Given the description of an element on the screen output the (x, y) to click on. 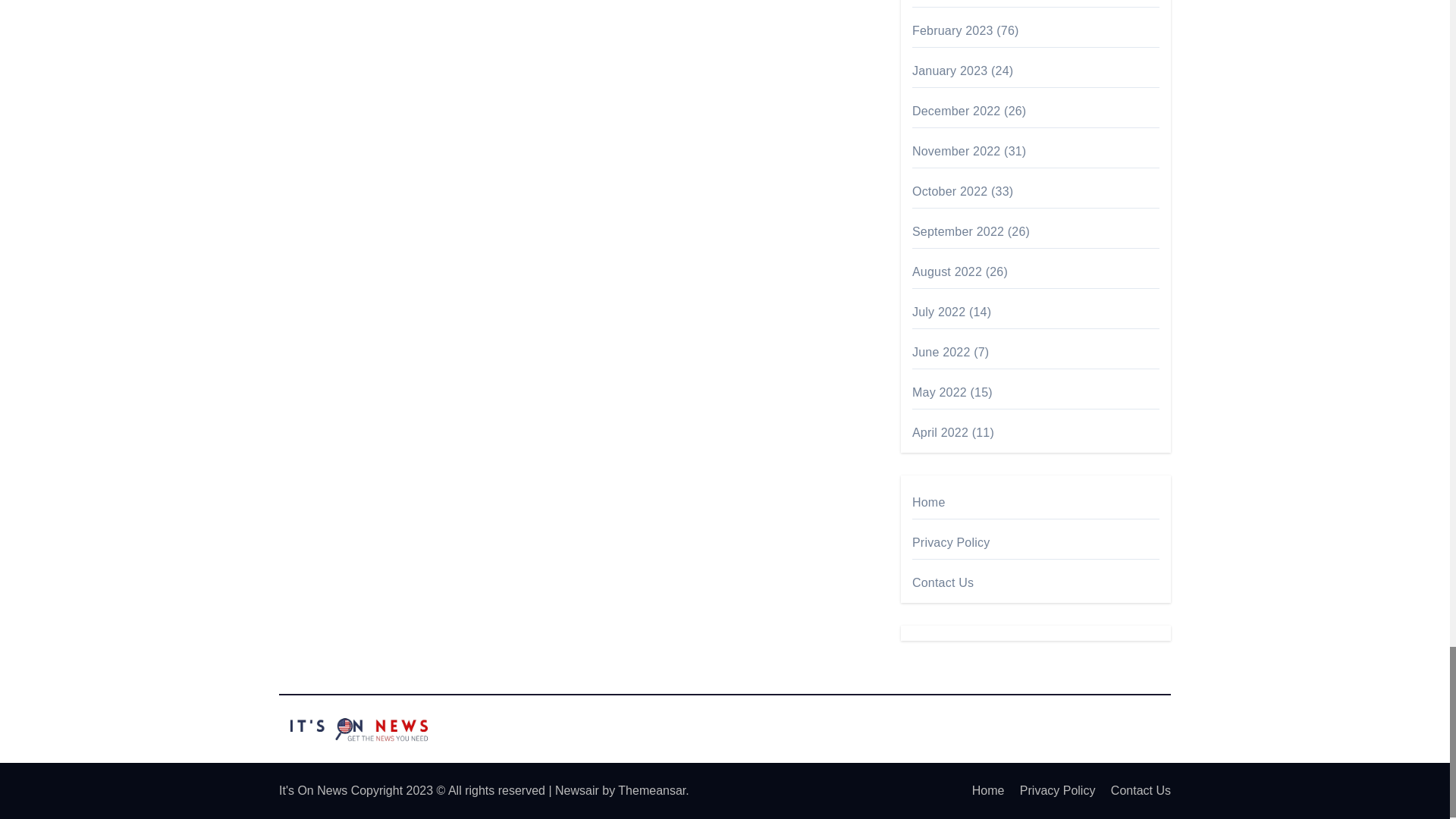
Privacy Policy (1051, 790)
Contact Us (1134, 790)
Home (981, 790)
